Given the description of an element on the screen output the (x, y) to click on. 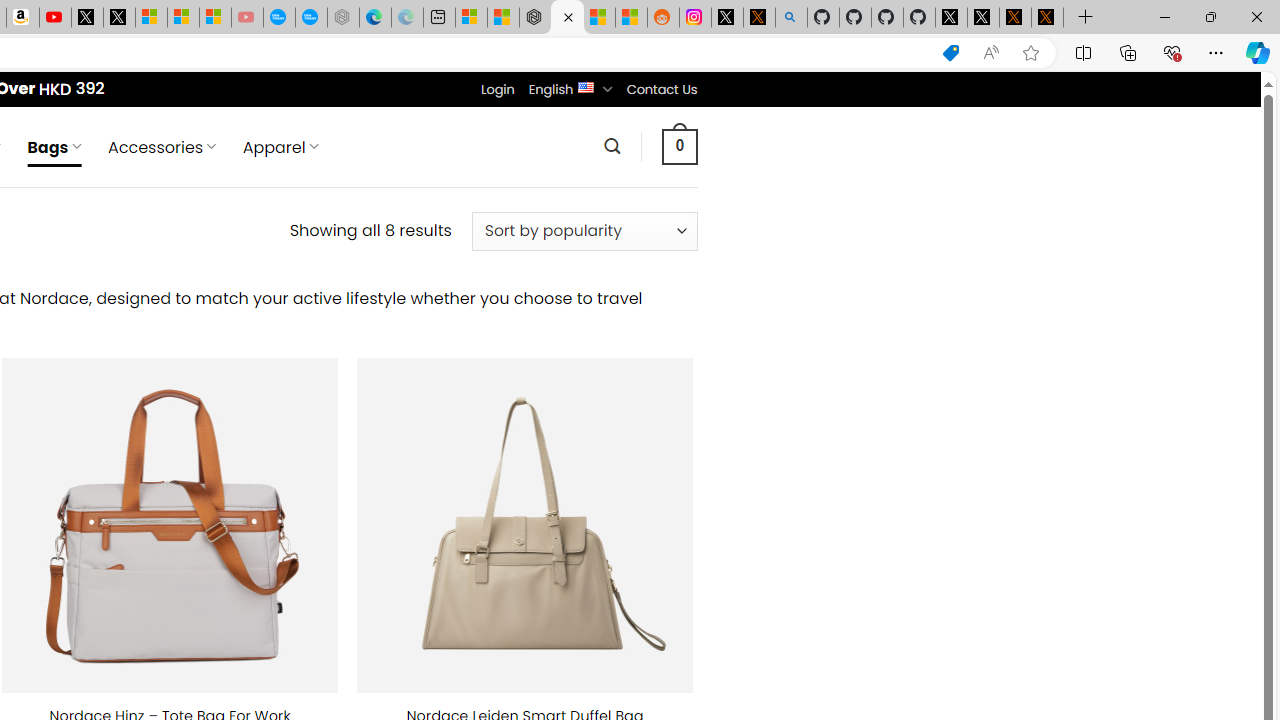
Microsoft account | Microsoft Account Privacy Settings (471, 17)
GitHub (@github) / X (983, 17)
Nordace - Nordace has arrived Hong Kong - Sleeping (343, 17)
Login (497, 89)
github - Search (791, 17)
The most popular Google 'how to' searches (310, 17)
